Given the description of an element on the screen output the (x, y) to click on. 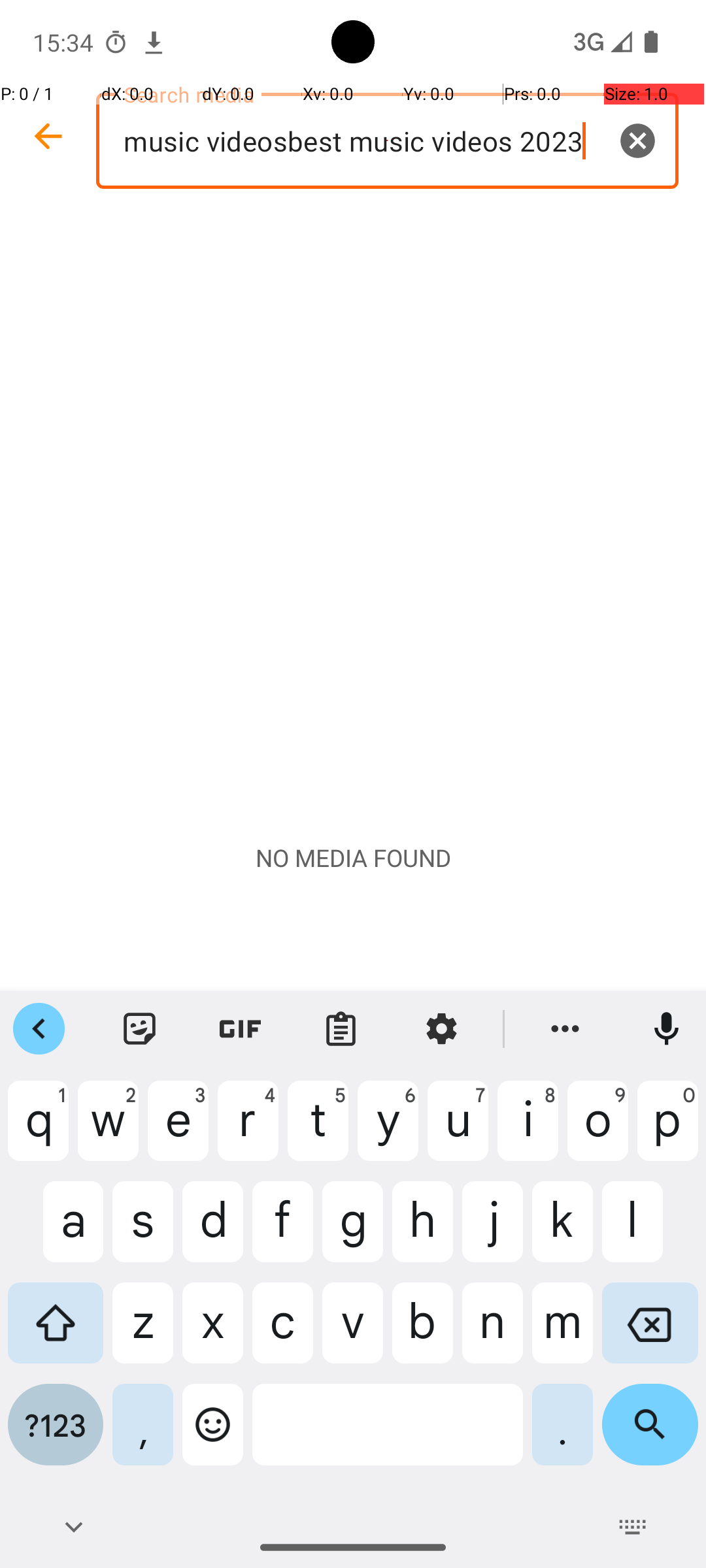
music videosbest music videos 2023 Element type: android.widget.EditText (387, 140)
NO MEDIA FOUND Element type: android.widget.TextView (353, 857)
